Given the description of an element on the screen output the (x, y) to click on. 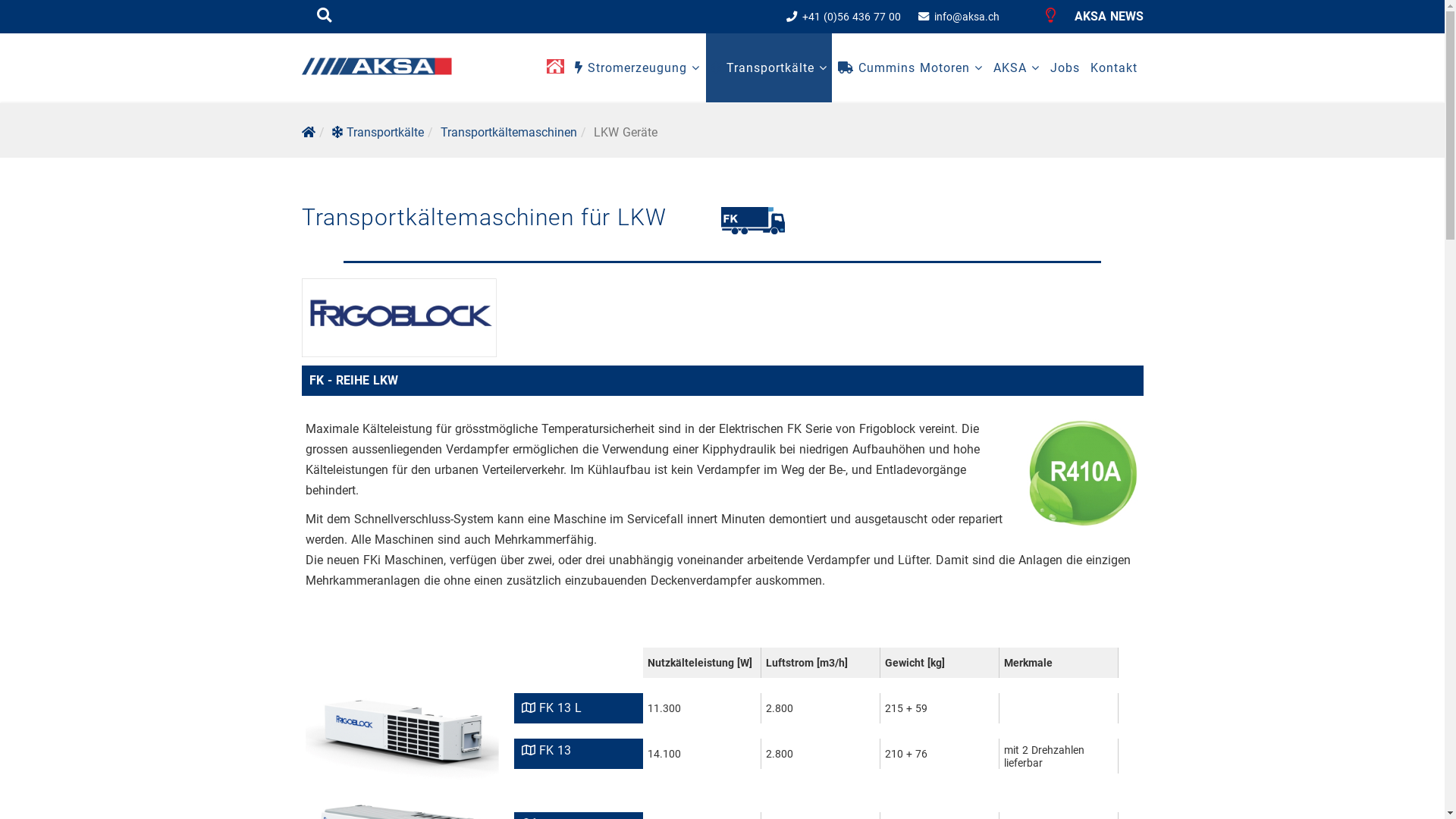
Jobs Element type: text (1063, 68)
+41 (0)56 436 77 00 Element type: text (851, 16)
FK 13 L Element type: text (551, 707)
Cummins Motoren Element type: text (909, 67)
Kontakt Element type: text (1113, 68)
AKSA Trailer Frigoblock Element type: hover (401, 733)
AKSA Element type: text (1016, 67)
info@aksa.ch Element type: text (966, 16)
FK 13 Element type: text (546, 750)
AKSA NEWS Element type: text (1093, 16)
Stromerzeugung Element type: text (637, 67)
AKSA Trailer Frigoblock Element type: hover (1082, 472)
AKSA Trailer Frigoblock Element type: hover (752, 224)
